Given the description of an element on the screen output the (x, y) to click on. 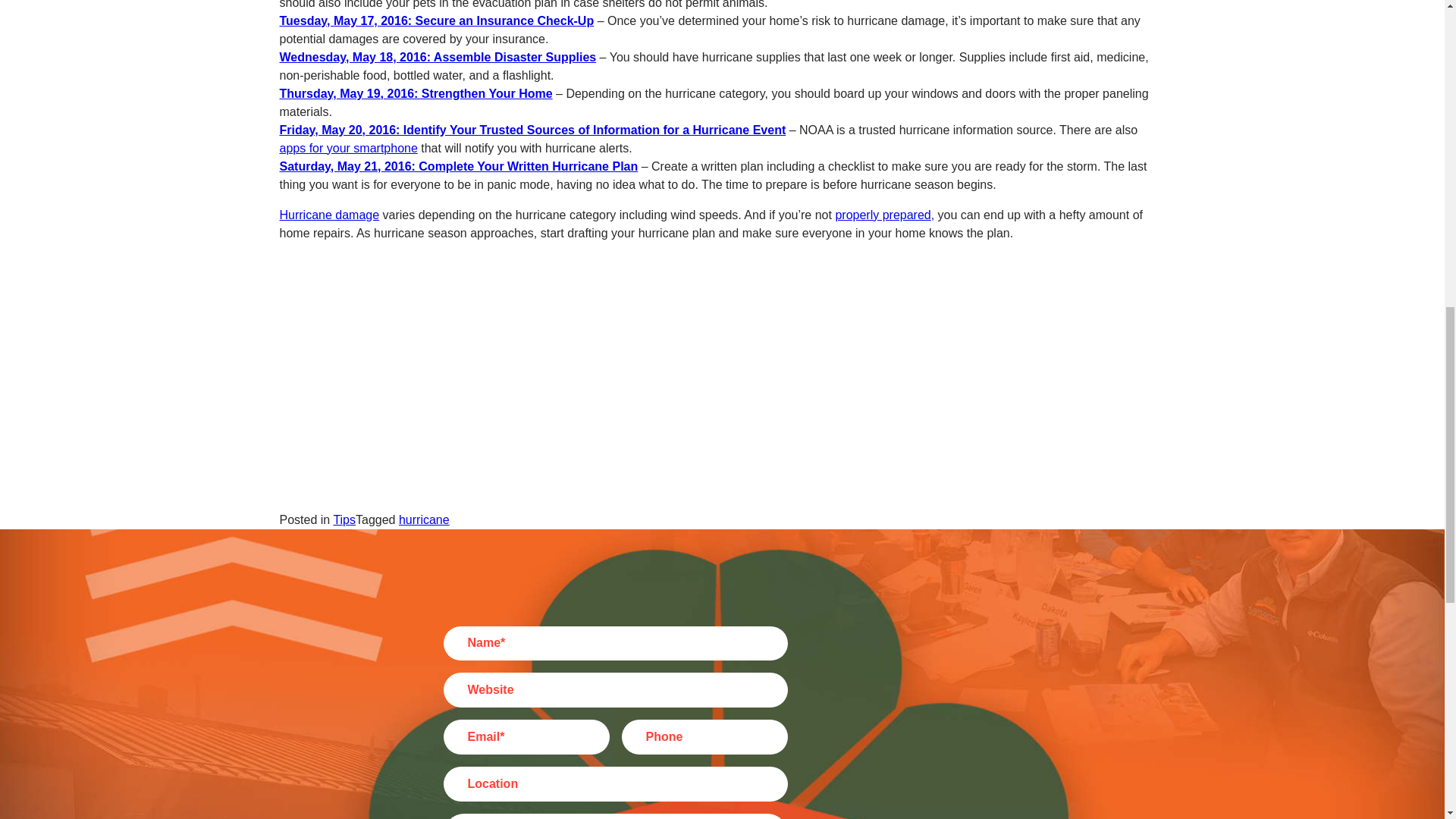
properly prepared (882, 214)
Thursday, May 19, 2016: Strengthen Your Home (415, 92)
Hurricane damage (328, 214)
Wednesday, May 18, 2016: Assemble Disaster Supplies (437, 56)
Saturday, May 21, 2016: Complete Your Written Hurricane Plan (458, 165)
Tips (344, 519)
hurricane (423, 519)
Tuesday, May 17, 2016: Secure an Insurance Check-Up (436, 20)
apps for your smartphone (347, 147)
